Given the description of an element on the screen output the (x, y) to click on. 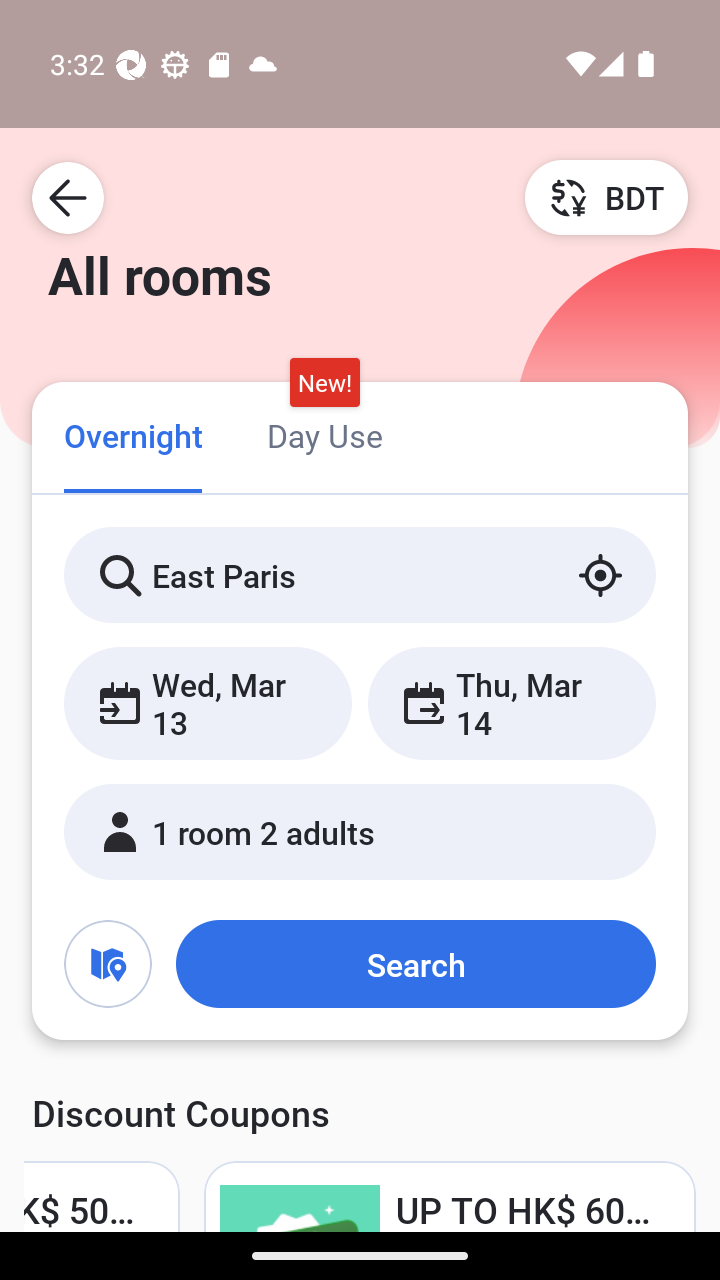
BDT (606, 197)
New! (324, 383)
Day Use (324, 434)
East Paris (359, 575)
Wed, Mar 13 (208, 703)
Thu, Mar 14 (511, 703)
1 room 2 adults (359, 831)
Search (415, 964)
